Given the description of an element on the screen output the (x, y) to click on. 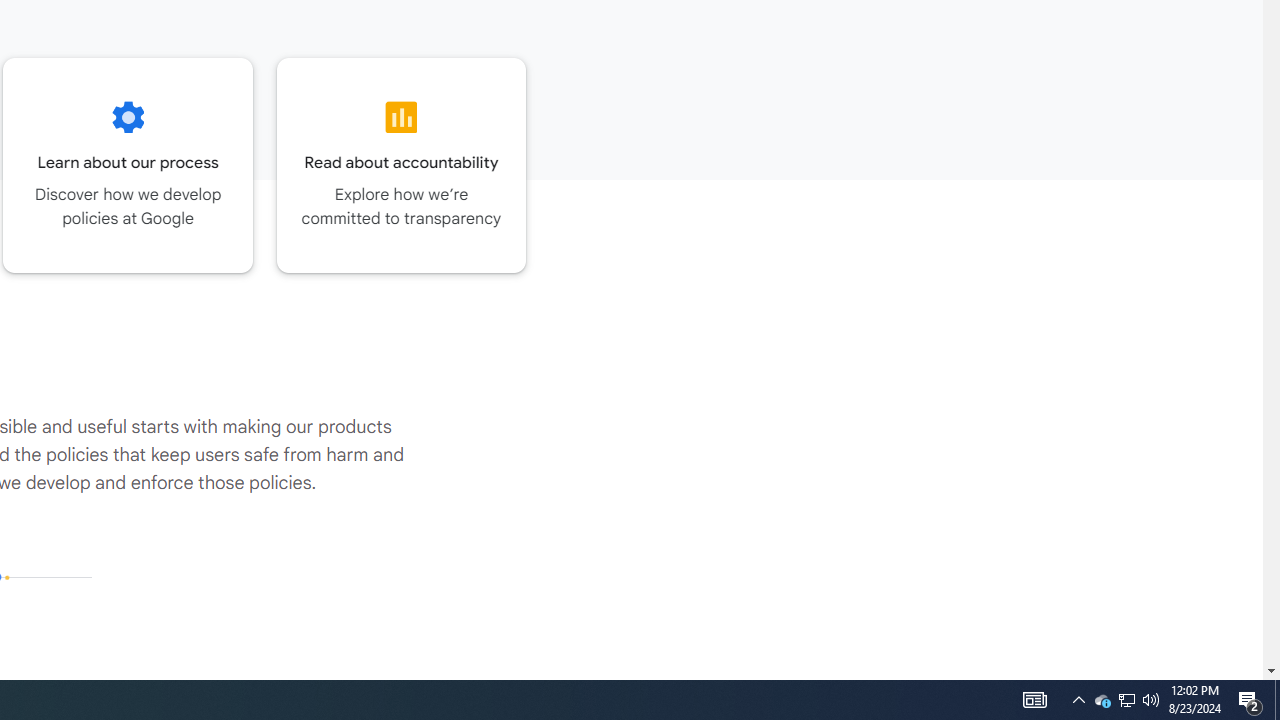
Go to the Our process page (127, 165)
Go to the Accountability page (401, 165)
